Given the description of an element on the screen output the (x, y) to click on. 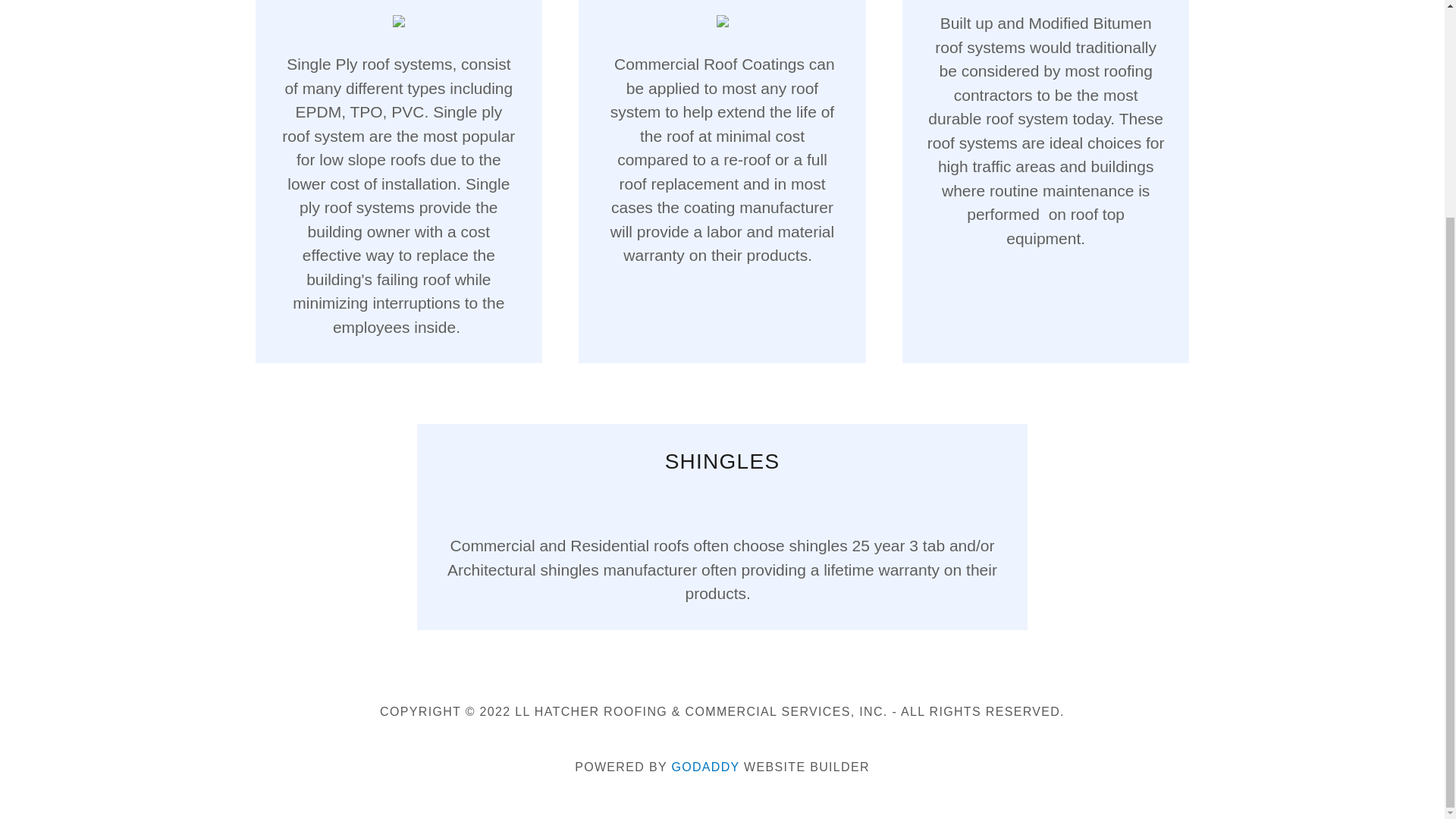
GODADDY (705, 766)
